Given the description of an element on the screen output the (x, y) to click on. 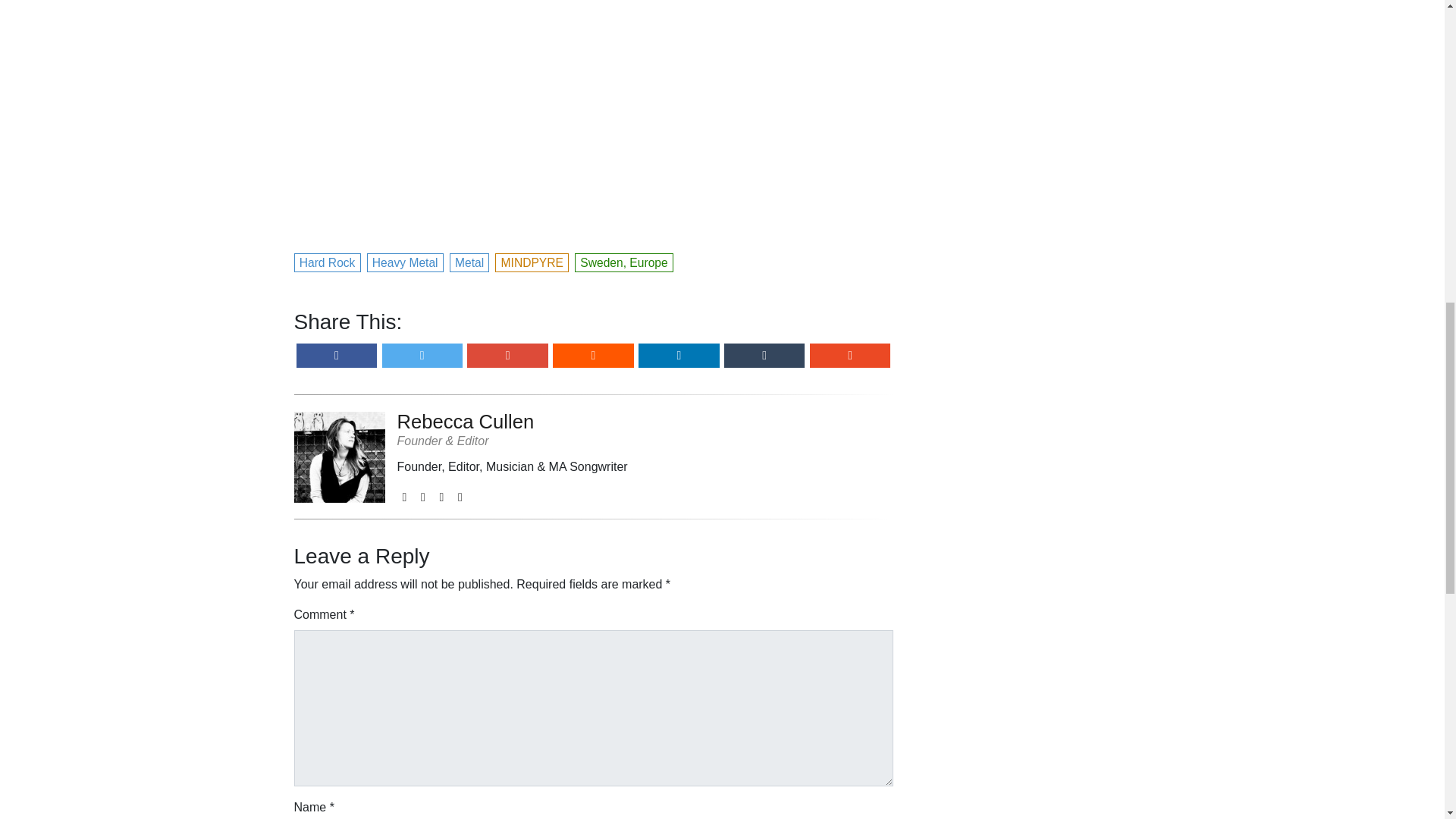
Rebecca Cullen (512, 421)
Heavy Metal (405, 261)
Metal (469, 261)
Sweden, Europe (624, 261)
MINDPYRE (532, 261)
Hard Rock (328, 261)
